Given the description of an element on the screen output the (x, y) to click on. 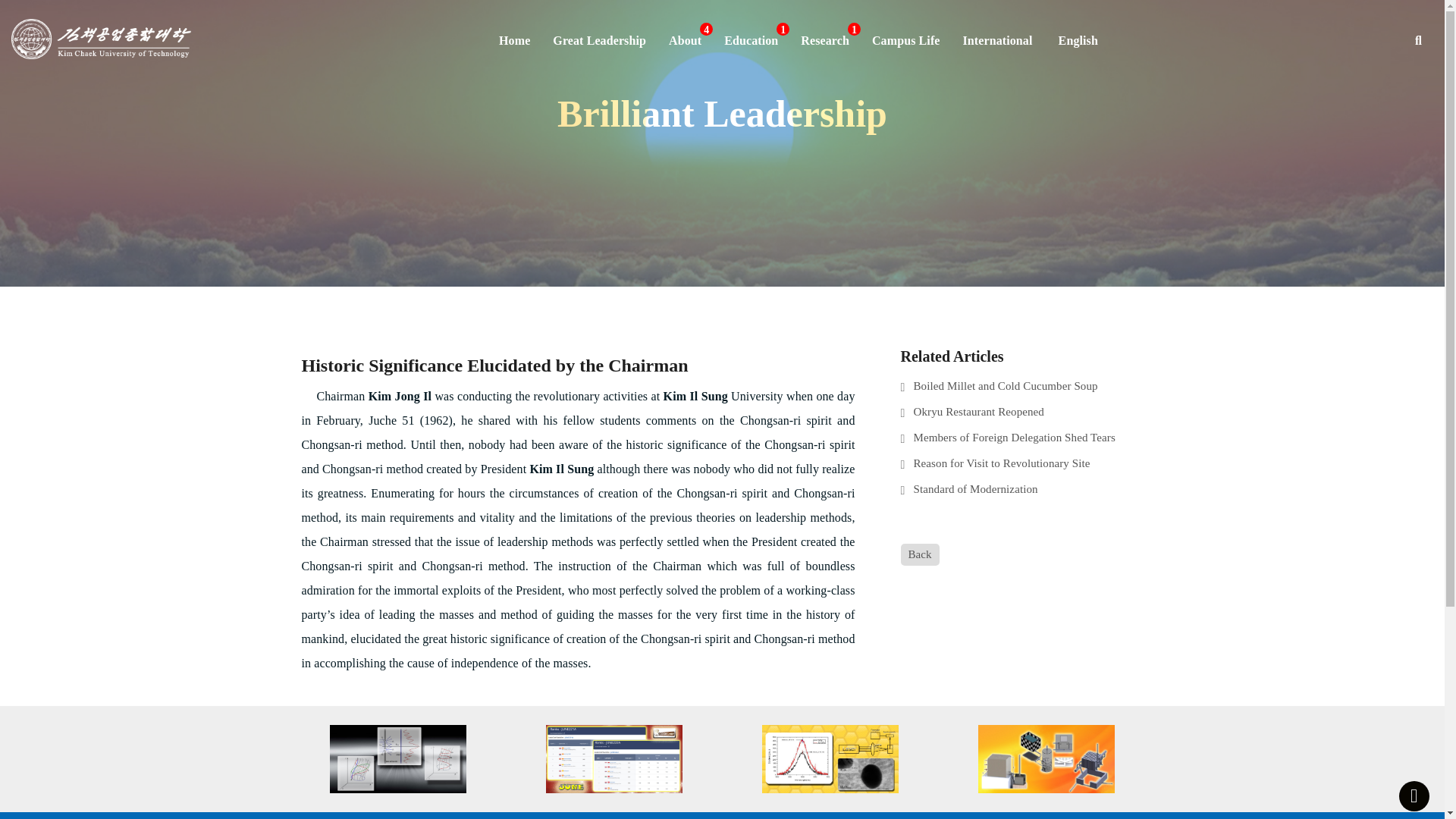
Great Leadership (599, 40)
International (997, 40)
Home (514, 40)
Education (751, 40)
English (1077, 40)
About (685, 40)
Various Types of Energy Conservational Boilers (1045, 758)
Winning Streak in Codechef Challenges (613, 758)
Campus Life (906, 40)
